Given the description of an element on the screen output the (x, y) to click on. 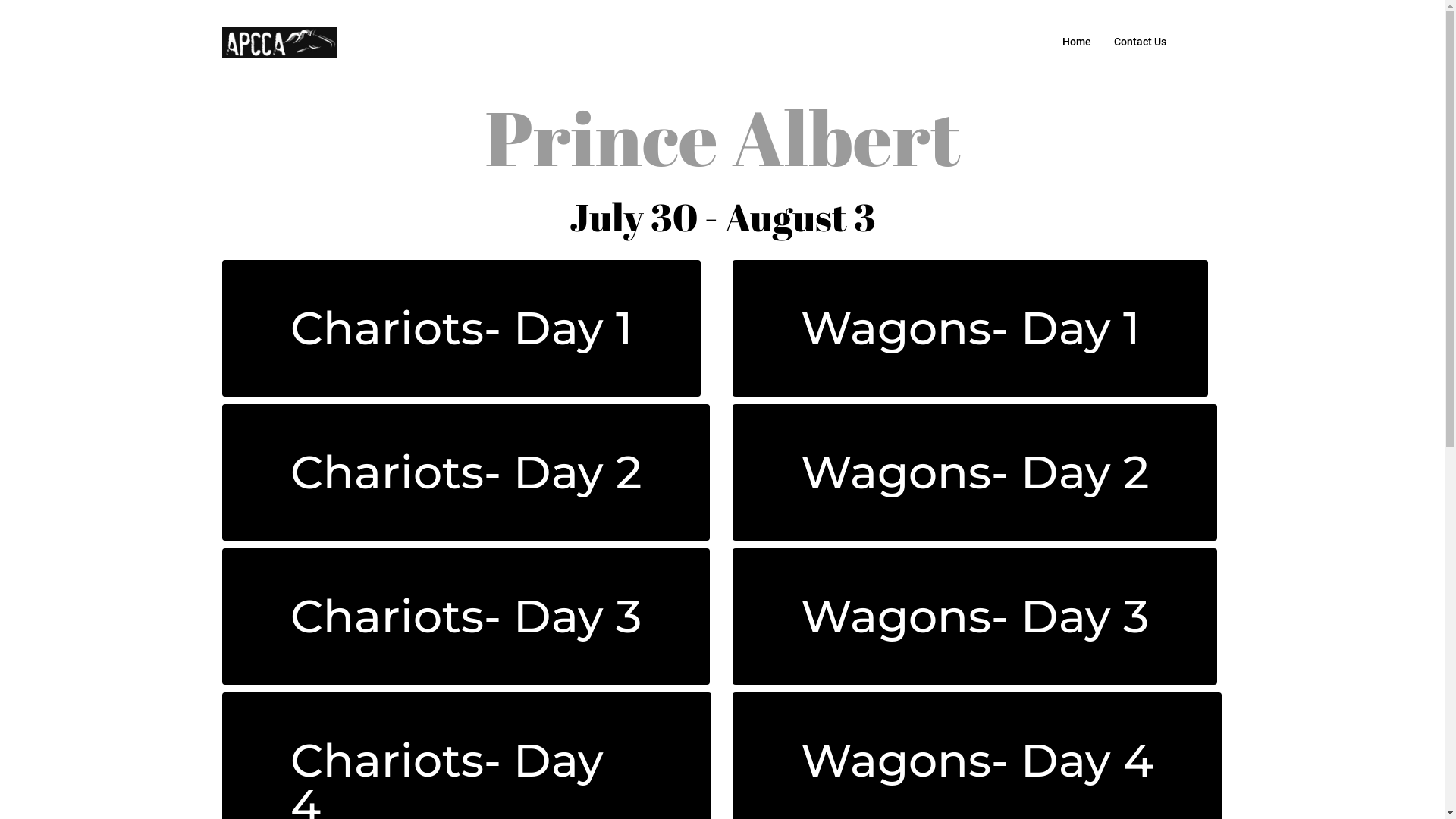
Home Element type: text (1075, 42)
Chariots- Day 1 Element type: text (460, 328)
Chariots- Day 2 Element type: text (465, 472)
Wagons- Day 2 Element type: text (974, 472)
Contact Us Element type: text (1139, 42)
Wagons- Day 1 Element type: text (970, 328)
Wagons- Day 3 Element type: text (974, 616)
Chariots- Day 3 Element type: text (465, 616)
